Given the description of an element on the screen output the (x, y) to click on. 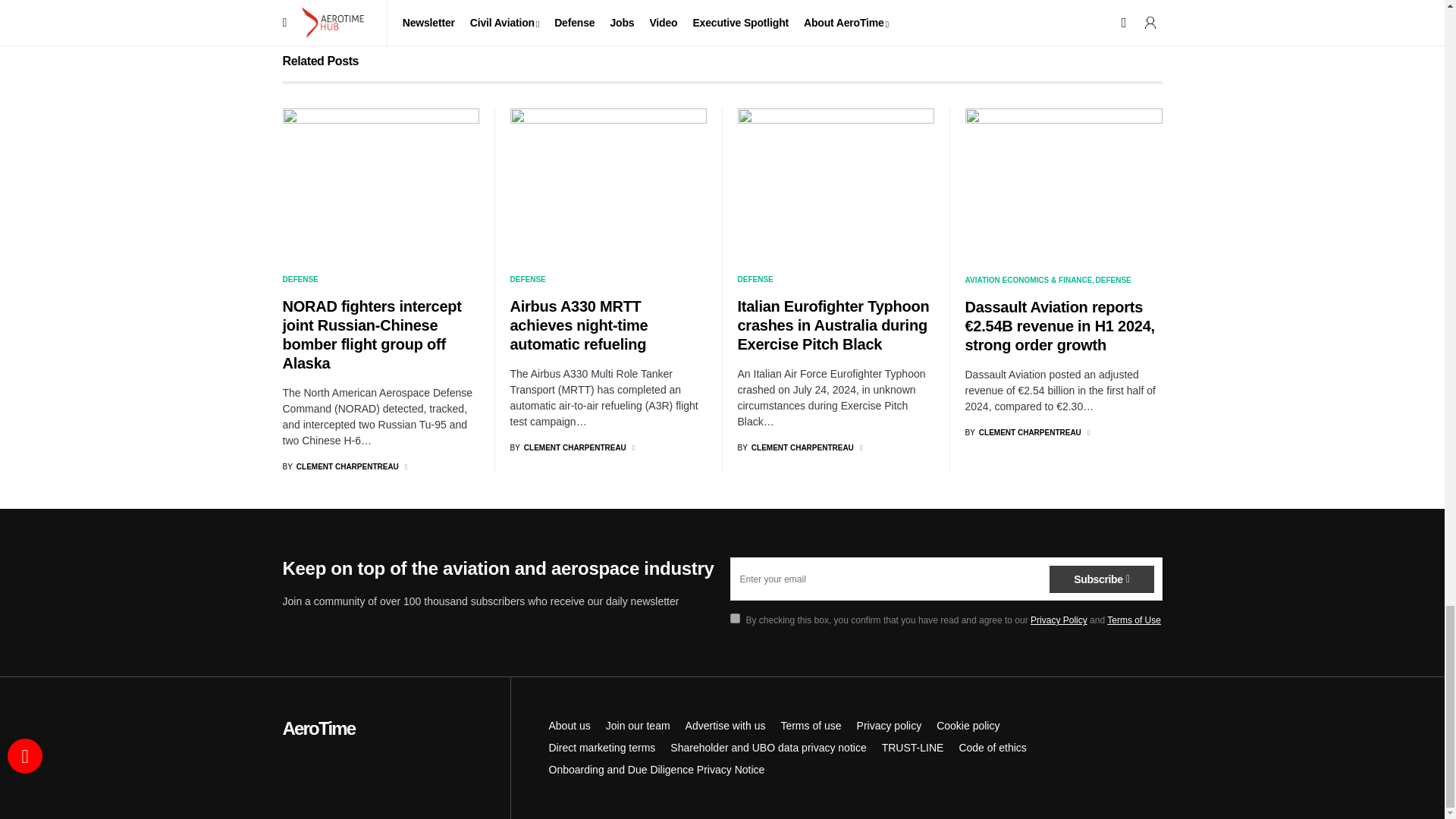
on (734, 618)
View all posts by Clement Charpentreau (1021, 432)
View all posts by Clement Charpentreau (794, 447)
View all posts by Clement Charpentreau (567, 447)
View all posts by Clement Charpentreau (339, 466)
